Given the description of an element on the screen output the (x, y) to click on. 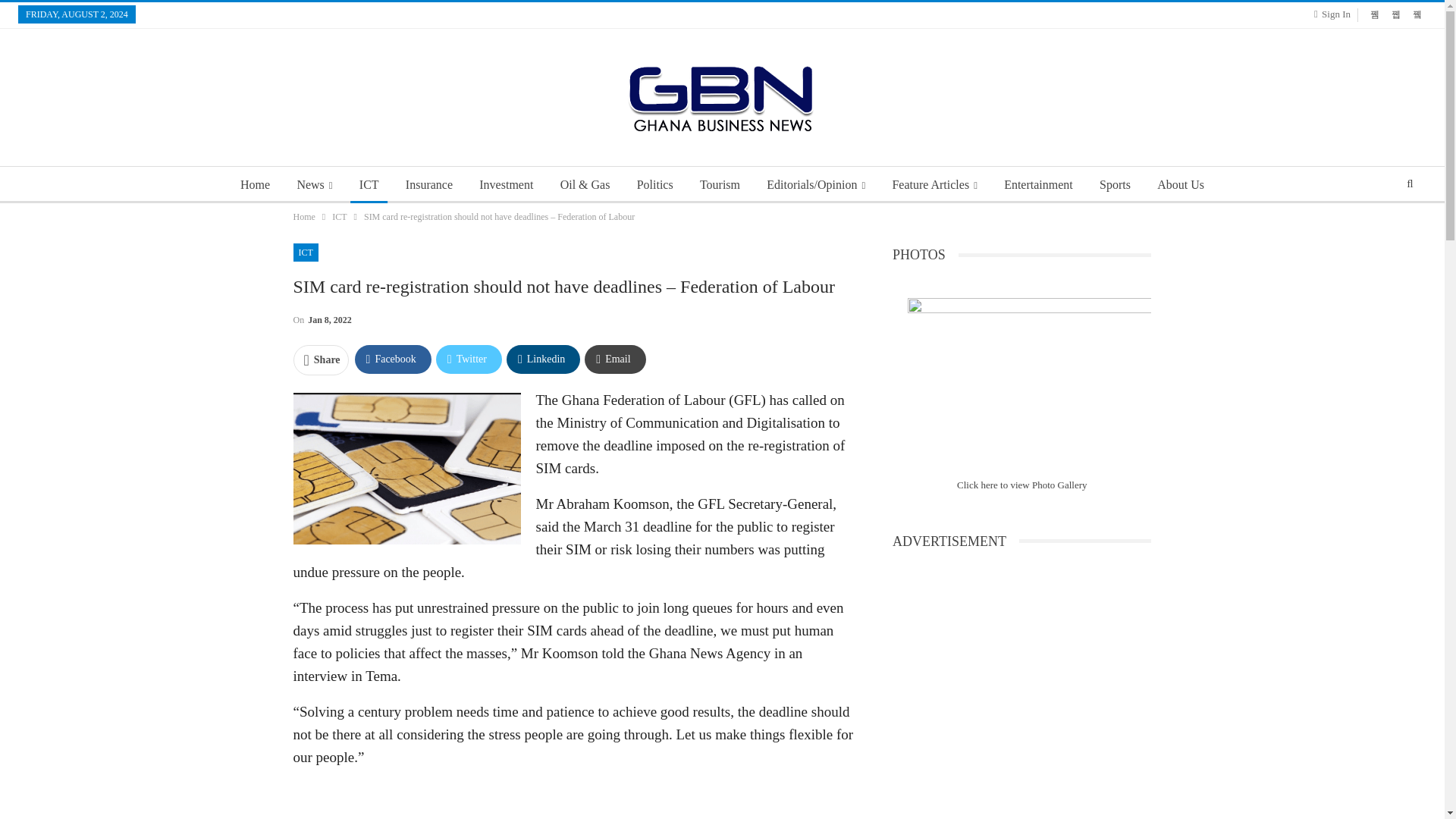
Investment (505, 185)
Sports (1115, 185)
ICT (304, 252)
ICT (369, 185)
13th-African-games-126 (1029, 379)
Facebook (392, 358)
Tourism (719, 185)
Politics (654, 185)
News (313, 185)
Linkedin (542, 358)
Home (303, 216)
About Us (1180, 185)
Entertainment (1037, 185)
Sign In (1335, 13)
Insurance (428, 185)
